Given the description of an element on the screen output the (x, y) to click on. 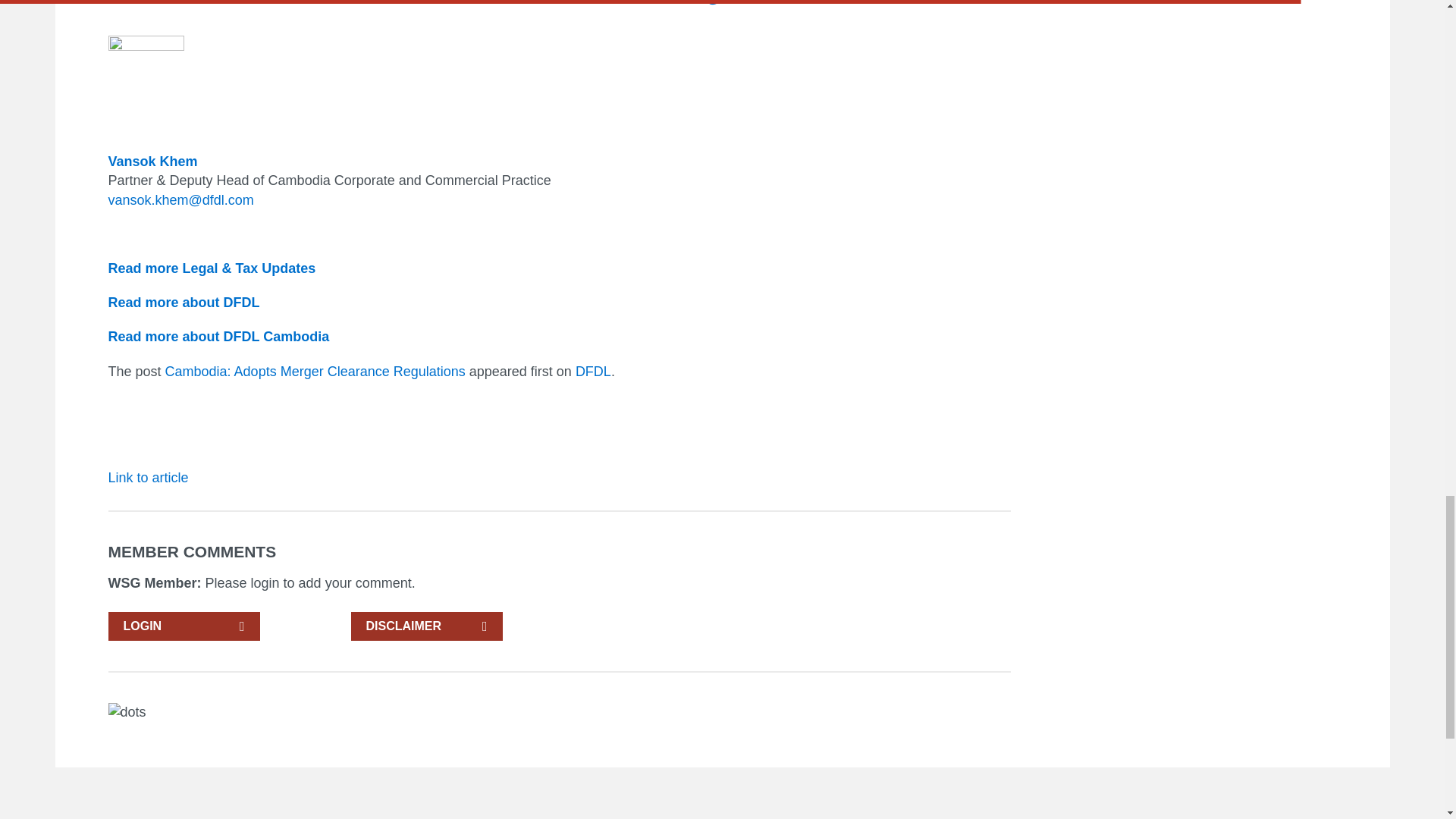
Cambodia: Adopts Merger Clearance Regulations (315, 371)
DISCLAIMER (426, 625)
Read more about DFDL (183, 302)
Read more about DFDL Cambodia (218, 336)
LOGIN (183, 625)
DFDL (593, 371)
Vansok Khem (151, 160)
Link to article (147, 477)
